Given the description of an element on the screen output the (x, y) to click on. 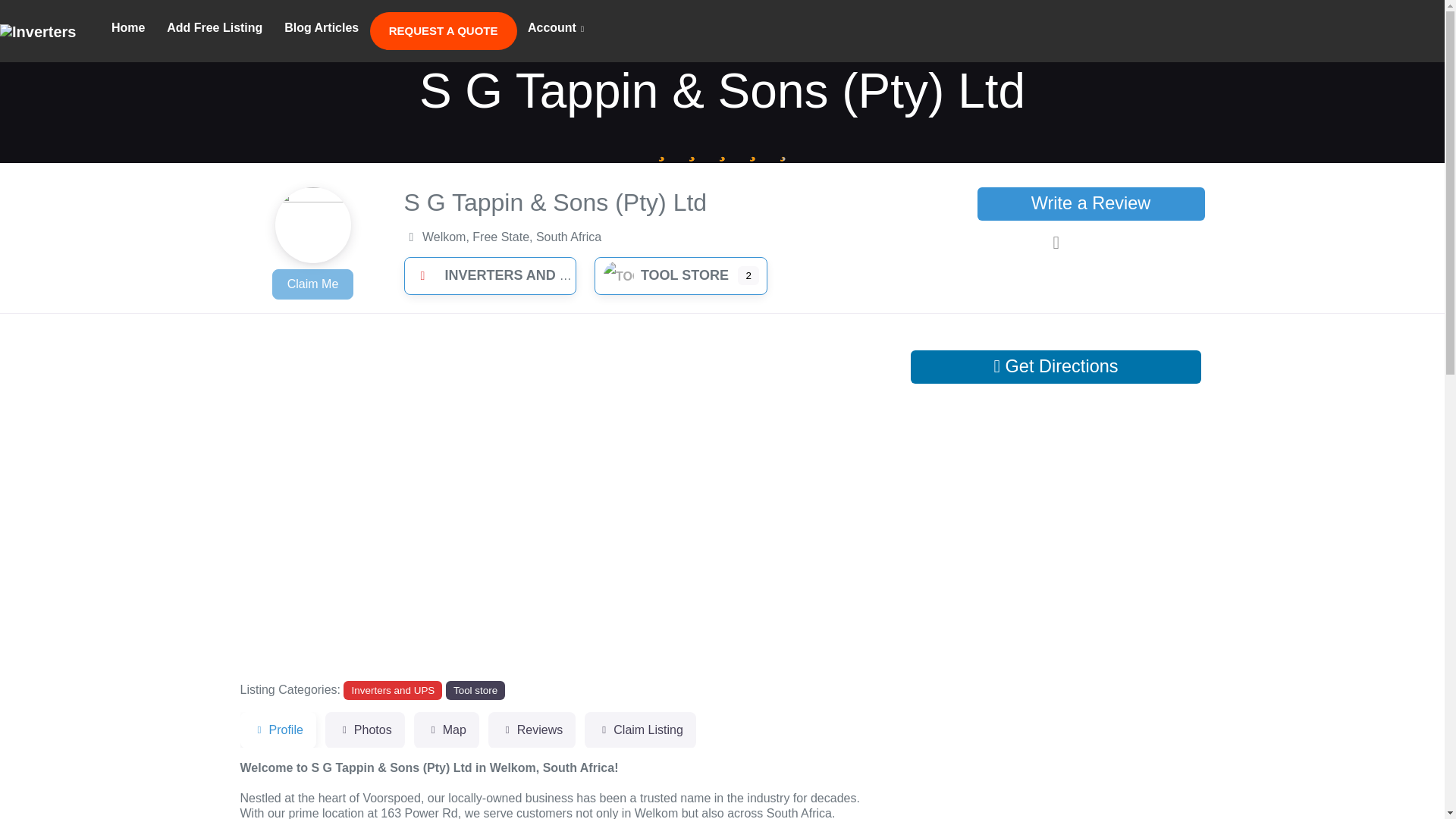
Profile (277, 729)
Add Free Listing (214, 28)
Claim Me (312, 284)
Photos (364, 729)
Inverters and UPS (392, 690)
Map (446, 729)
Account (555, 28)
INVERTERS AND UPS (497, 274)
Photos (364, 729)
Add to Favorites (1090, 243)
